Given the description of an element on the screen output the (x, y) to click on. 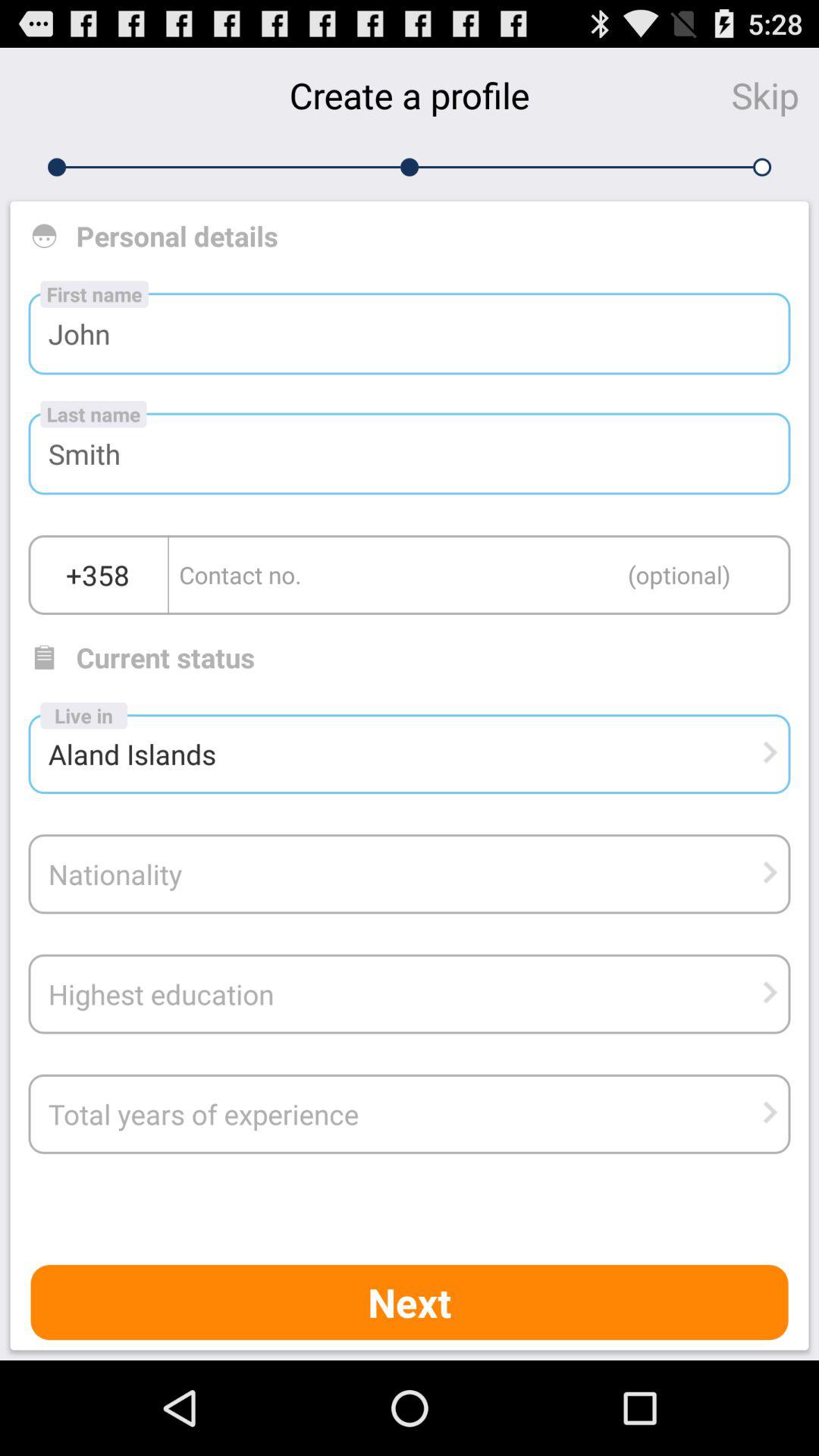
enter phone number (479, 574)
